Given the description of an element on the screen output the (x, y) to click on. 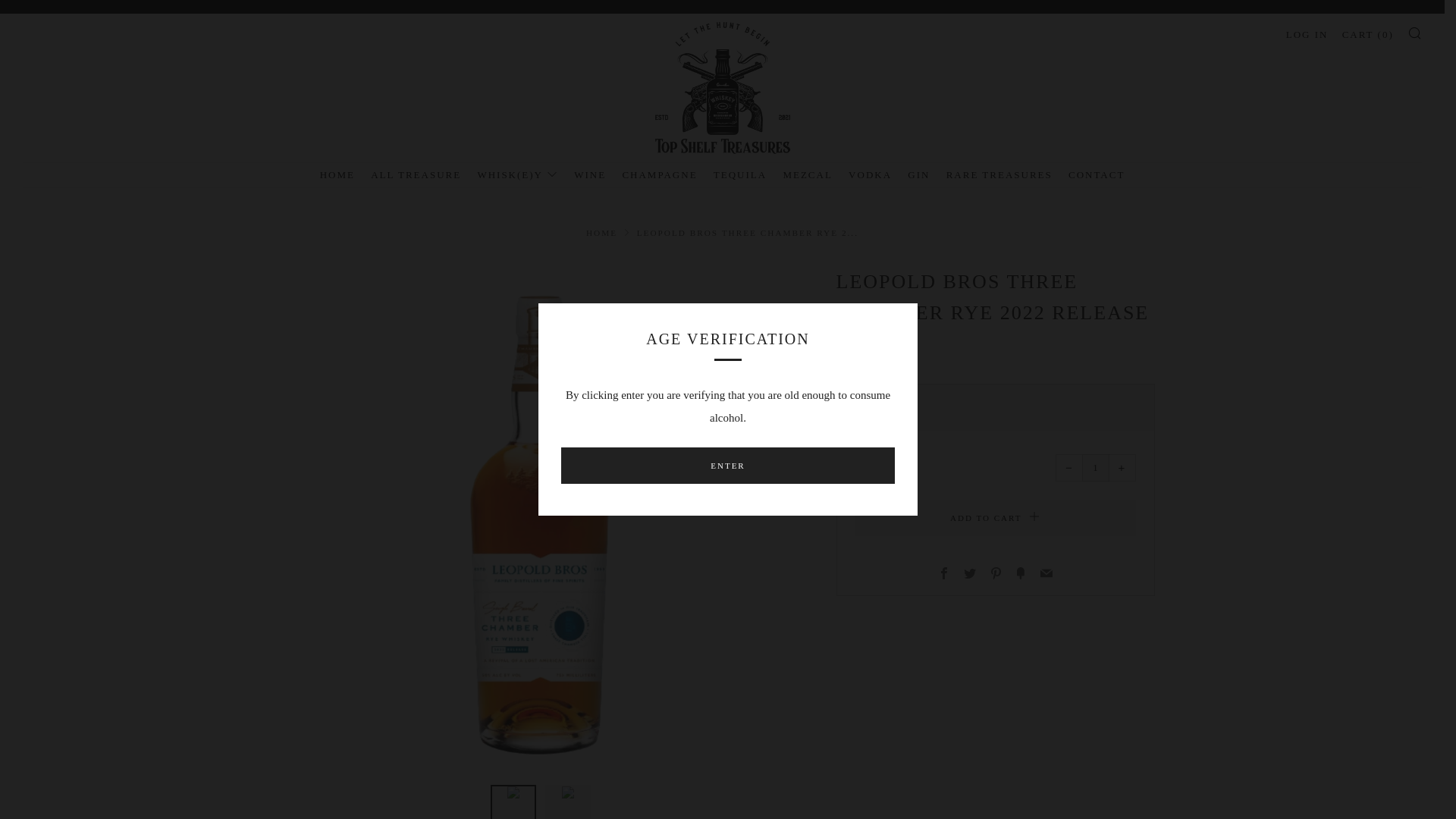
HOME (337, 174)
1 (1094, 467)
CHAMPAGNE (659, 174)
WINE (589, 174)
Home (601, 232)
ENTER (727, 465)
Leopold Bros (868, 358)
ALL TREASURE (416, 174)
